Given the description of an element on the screen output the (x, y) to click on. 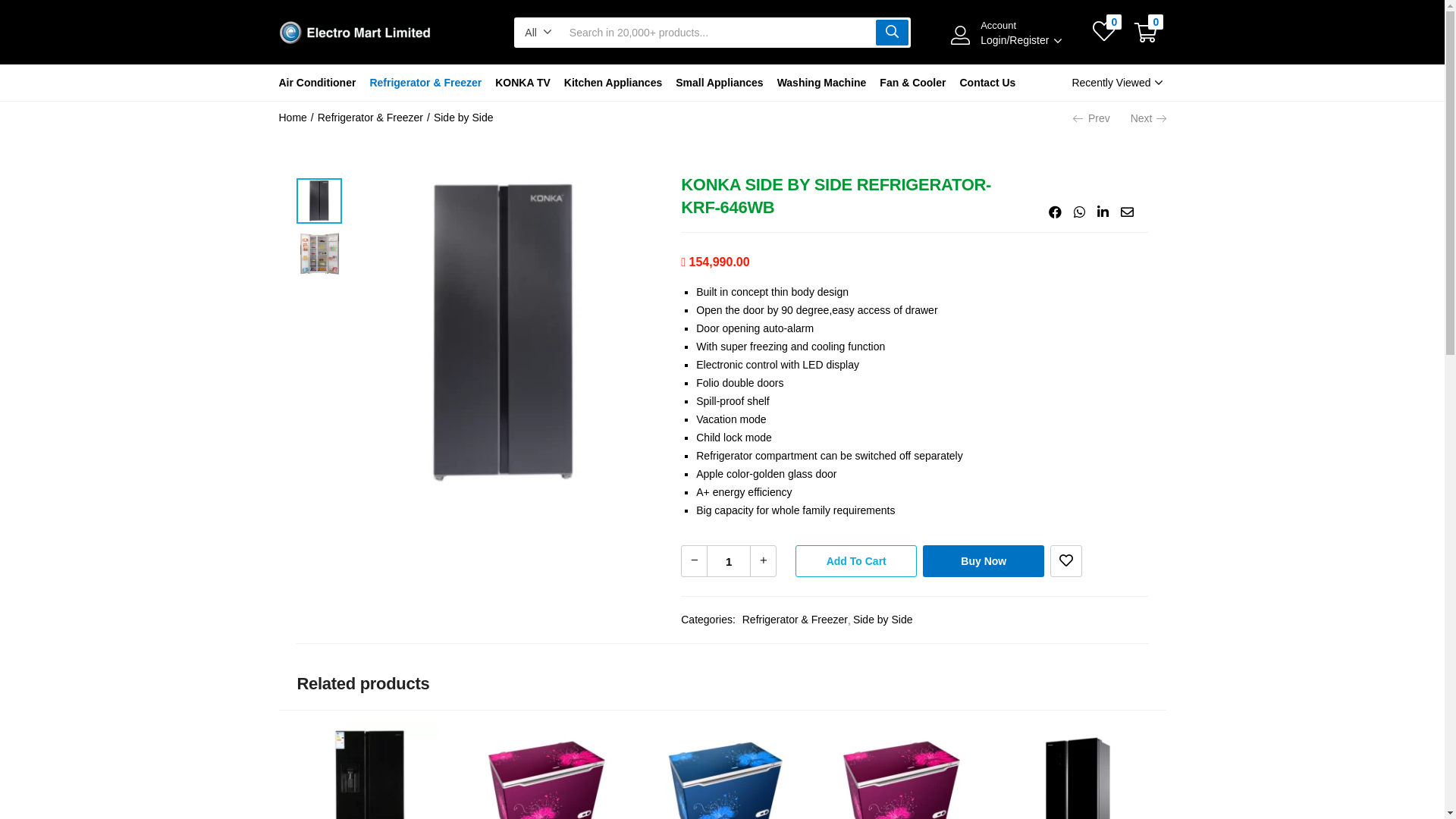
Home Element type: text (293, 117)
Side by Side Element type: text (880, 619)
KONKA SIDE BY SIDE REFRIGERATOR-KRF-606WHI (606 LTR) Element type: hover (367, 795)
EM-LOGO-white Element type: hover (354, 32)
0 Element type: text (1103, 32)
0 Element type: text (1145, 32)
KONKA+SIDE+BY+SIDE+REFRIGERATOR-KRF-646WB Element type: hover (1102, 212)
Fan & Cooler Element type: text (912, 82)
Kitchen Appliances Element type: text (612, 82)
Refrigerator & Freezer Element type: text (370, 117)
Add To Cart Element type: text (855, 561)
Small Appliances Element type: text (718, 82)
HDF-221GB- HAIKO CHEST FREEZER PURPLE (221 LTR) Element type: hover (544, 795)
Next Element type: text (1148, 118)
Side by Side Element type: text (463, 117)
Washing Machine Element type: text (821, 82)
HDF-161GB- HAIKO CHEST FREEZER PURPLE (161 LTR) Element type: hover (899, 795)
Qty Element type: hover (728, 561)
Contact Us Element type: text (987, 82)
KONKA TV Element type: text (522, 82)
Prev Element type: text (1091, 118)
KONKA SIDE BY SIDE REFRIGERATOR-KRF-646WB Element type: hover (1126, 212)
Refrigerator & Freezer Element type: text (794, 619)
Wishlist Element type: hover (1066, 561)
AccountLogin/Register Element type: text (1017, 32)
KONKA SIDE BY SIDE REFRIGERATOR-KRF-646WB Element type: hover (1054, 212)
Air Conditioner Element type: text (321, 82)
KONKA SIDE BY SIDE REFRIGERATOR-KRF-646WB Element type: hover (1079, 212)
KRF-646W.png Element type: hover (503, 332)
HDF-281GB- HAIKO CHEST FREEZER BLUE (281 LTR) Element type: hover (722, 795)
Buy Now Element type: text (983, 561)
Refrigerator & Freezer Element type: text (425, 82)
